Given the description of an element on the screen output the (x, y) to click on. 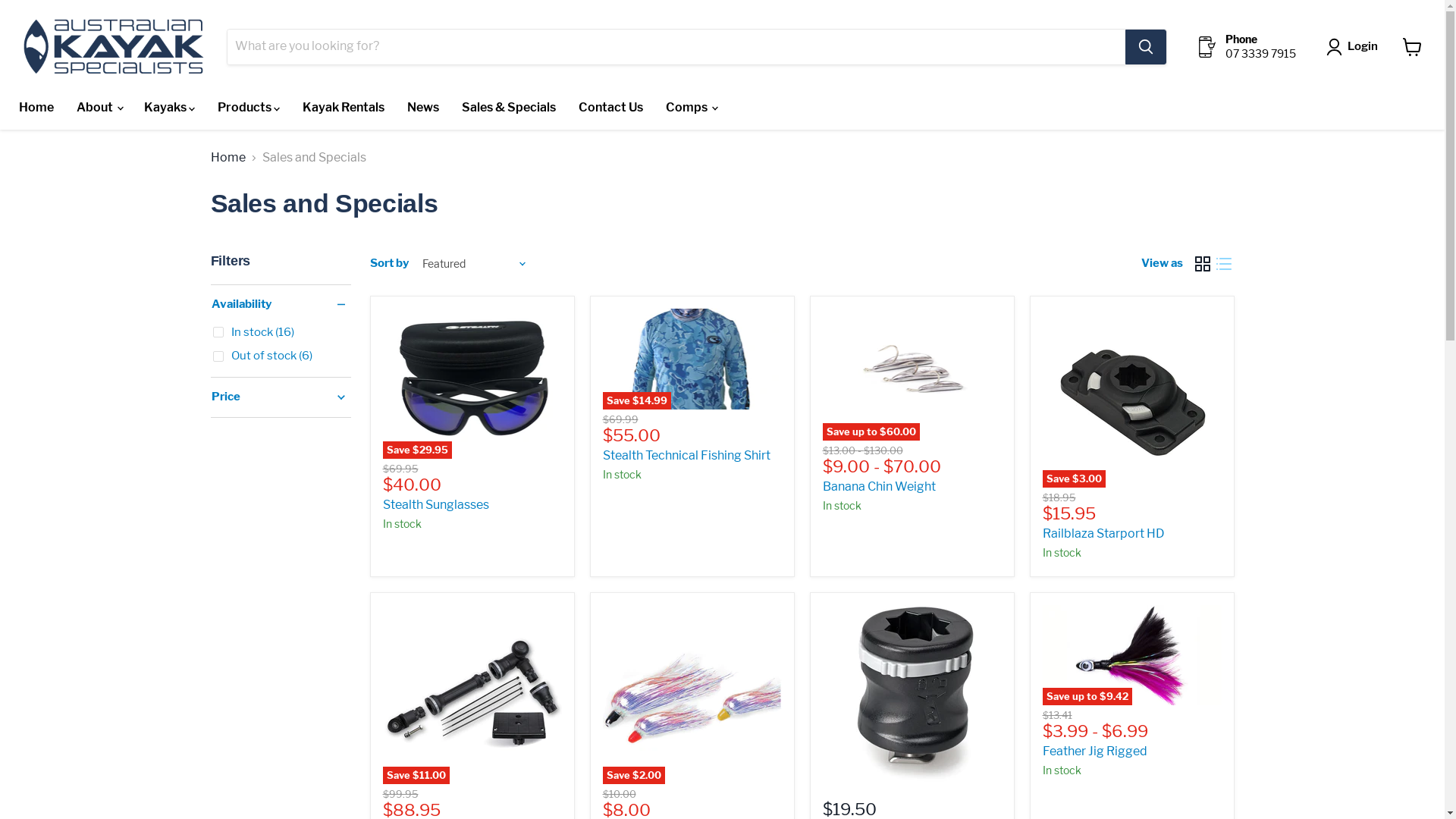
Railblaza Starport HD Element type: text (1102, 533)
Feather Jig Rigged Element type: text (1093, 750)
Login Element type: text (1354, 46)
Stealth Technical Fishing Shirt Element type: text (685, 455)
Availability Element type: text (280, 304)
Save $11.00 Element type: text (471, 694)
In stock (16) Element type: text (253, 332)
Save $29.95 Element type: text (471, 383)
Price Element type: text (280, 396)
Home Element type: text (227, 157)
Save up to $60.00 Element type: text (911, 374)
Home Element type: text (36, 107)
Save $2.00 Element type: text (691, 694)
Kayak Rentals Element type: text (343, 107)
Contact Us Element type: text (610, 107)
Sales & Specials Element type: text (508, 107)
Stealth Sunglasses Element type: text (435, 504)
Out of stock (6) Element type: text (262, 355)
Save $14.99 Element type: text (691, 358)
Banana Chin Weight Element type: text (878, 486)
News Element type: text (422, 107)
Save up to $9.42 Element type: text (1130, 655)
View cart Element type: text (1412, 46)
Save $3.00 Element type: text (1130, 397)
